Given the description of an element on the screen output the (x, y) to click on. 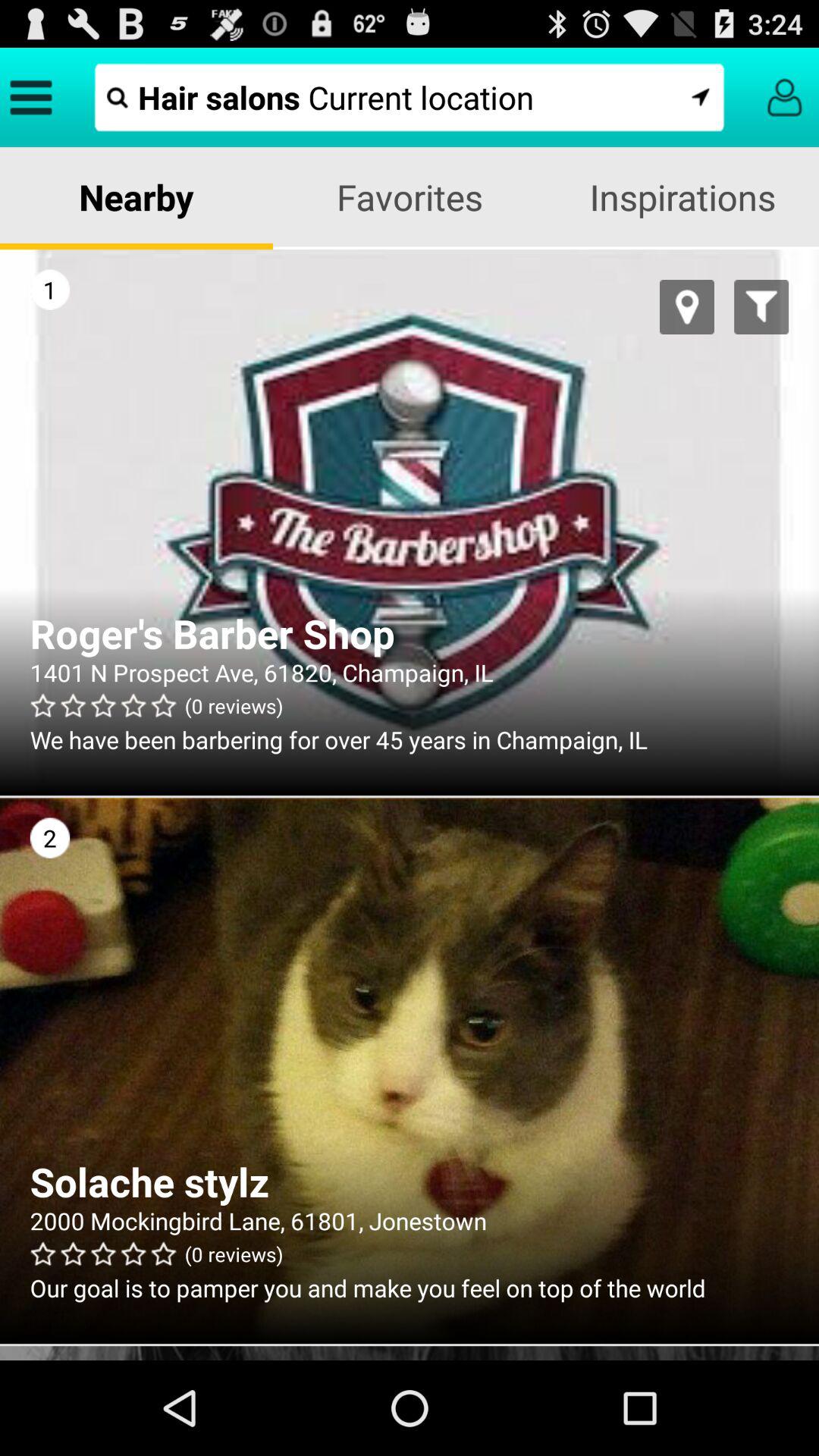
choose 1401 n prospect app (409, 672)
